Given the description of an element on the screen output the (x, y) to click on. 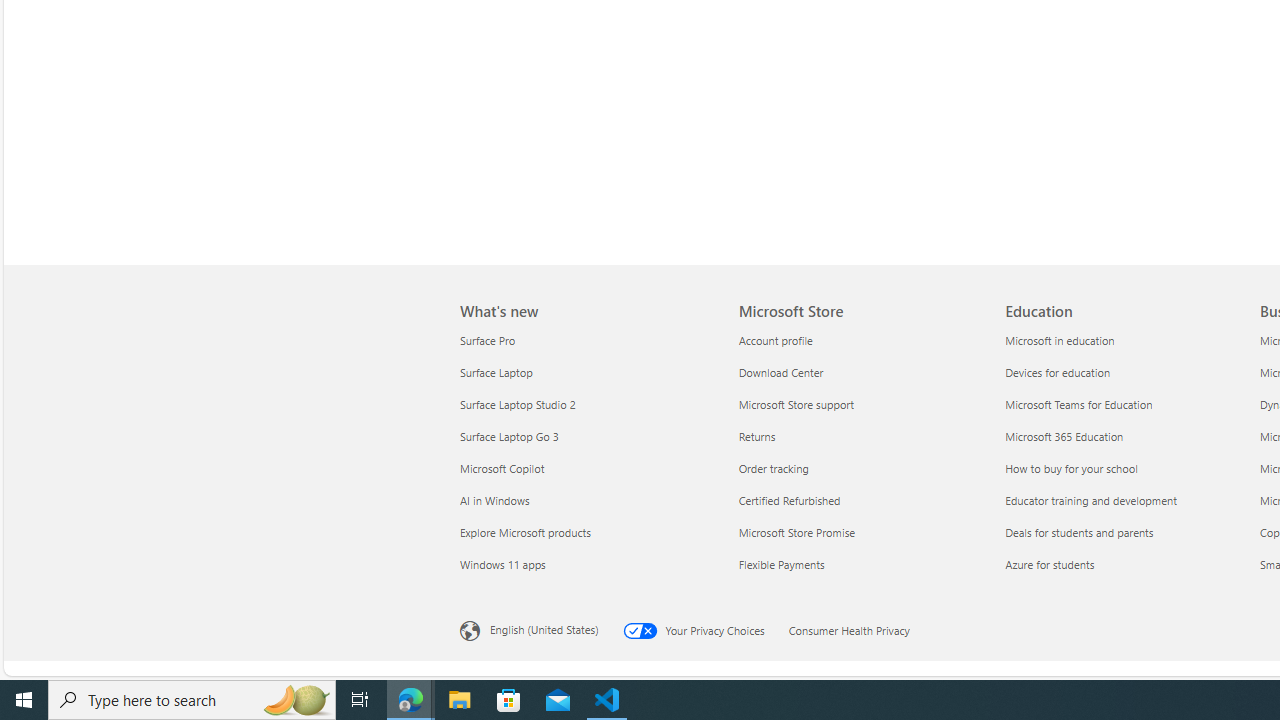
Windows 11 apps (587, 564)
Returns (859, 435)
Surface Laptop What's new (495, 372)
Azure for students (1126, 564)
AI in Windows What's new (494, 499)
Educator training and development (1126, 499)
Devices for education Education (1057, 372)
Certified Refurbished Microsoft Store (789, 499)
Account profile Microsoft Store (775, 339)
Azure for students Education (1049, 563)
Surface Pro What's new (487, 339)
Surface Laptop Studio 2 What's new (517, 403)
Consumer Health Privacy (861, 628)
Surface Laptop Go 3 What's new (509, 435)
Surface Pro (587, 340)
